Given the description of an element on the screen output the (x, y) to click on. 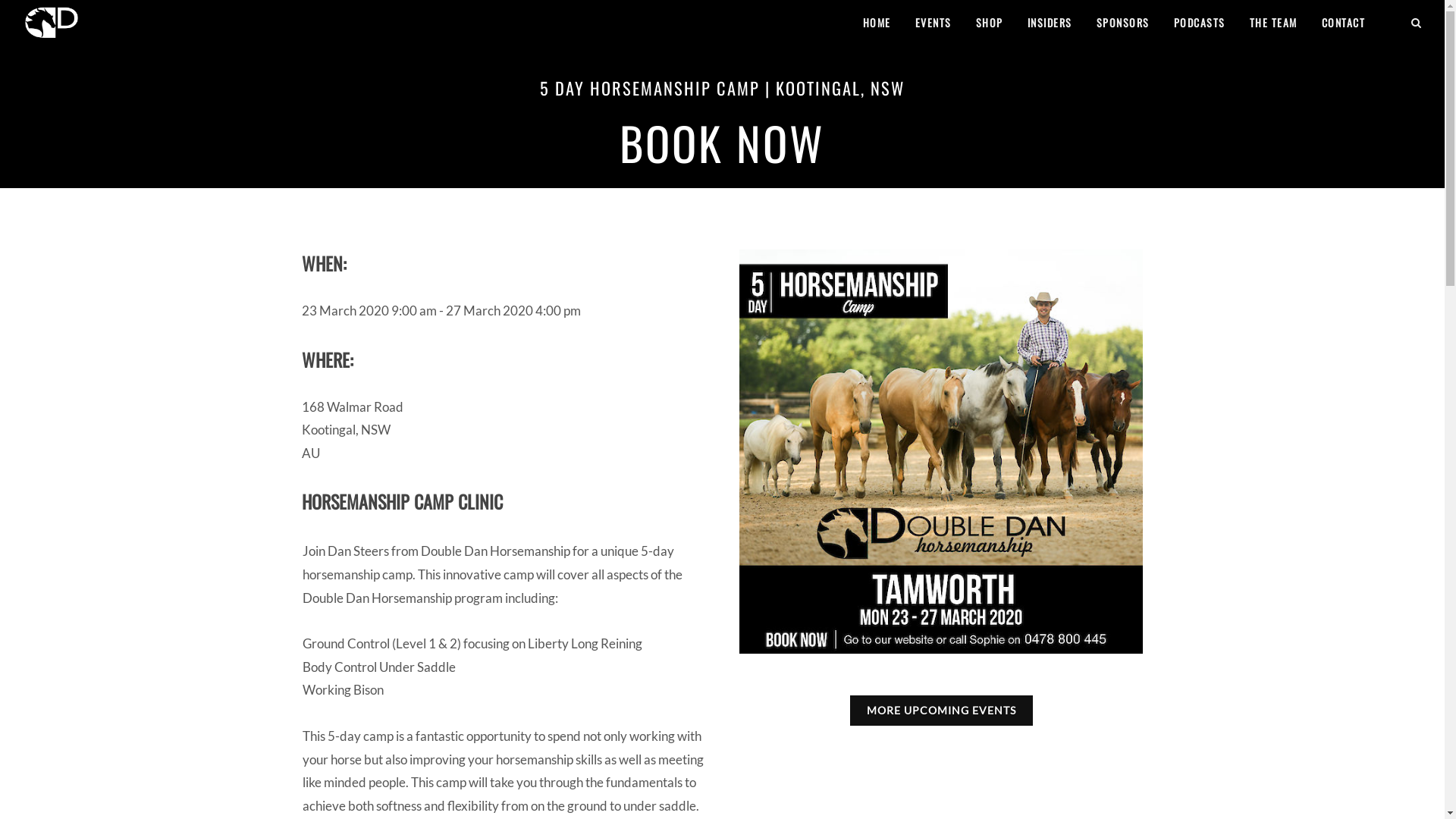
search Element type: hover (1416, 20)
SHOP Element type: text (989, 22)
CONTACT Element type: text (1343, 22)
HOME Element type: text (875, 22)
MORE UPCOMING EVENTS Element type: text (941, 710)
SPONSORS Element type: text (1122, 22)
THE TEAM Element type: text (1272, 22)
PODCASTS Element type: text (1198, 22)
EVENTS Element type: text (933, 22)
INSIDERS Element type: text (1049, 22)
